Given the description of an element on the screen output the (x, y) to click on. 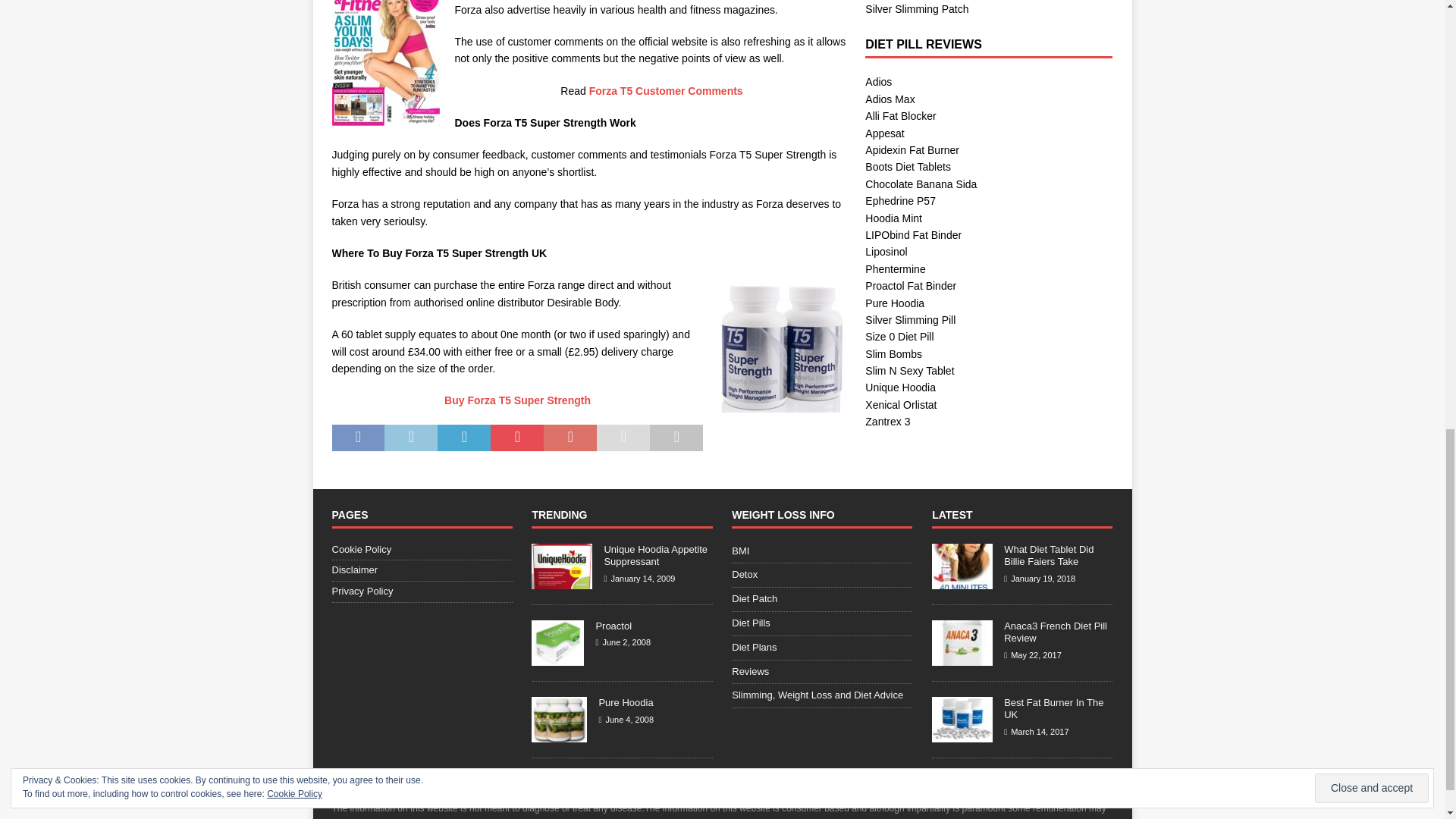
Buy Forza T5 Super Strength (517, 399)
Forza T5 Customer Comments (665, 91)
Buy T5 SS (782, 346)
